Given the description of an element on the screen output the (x, y) to click on. 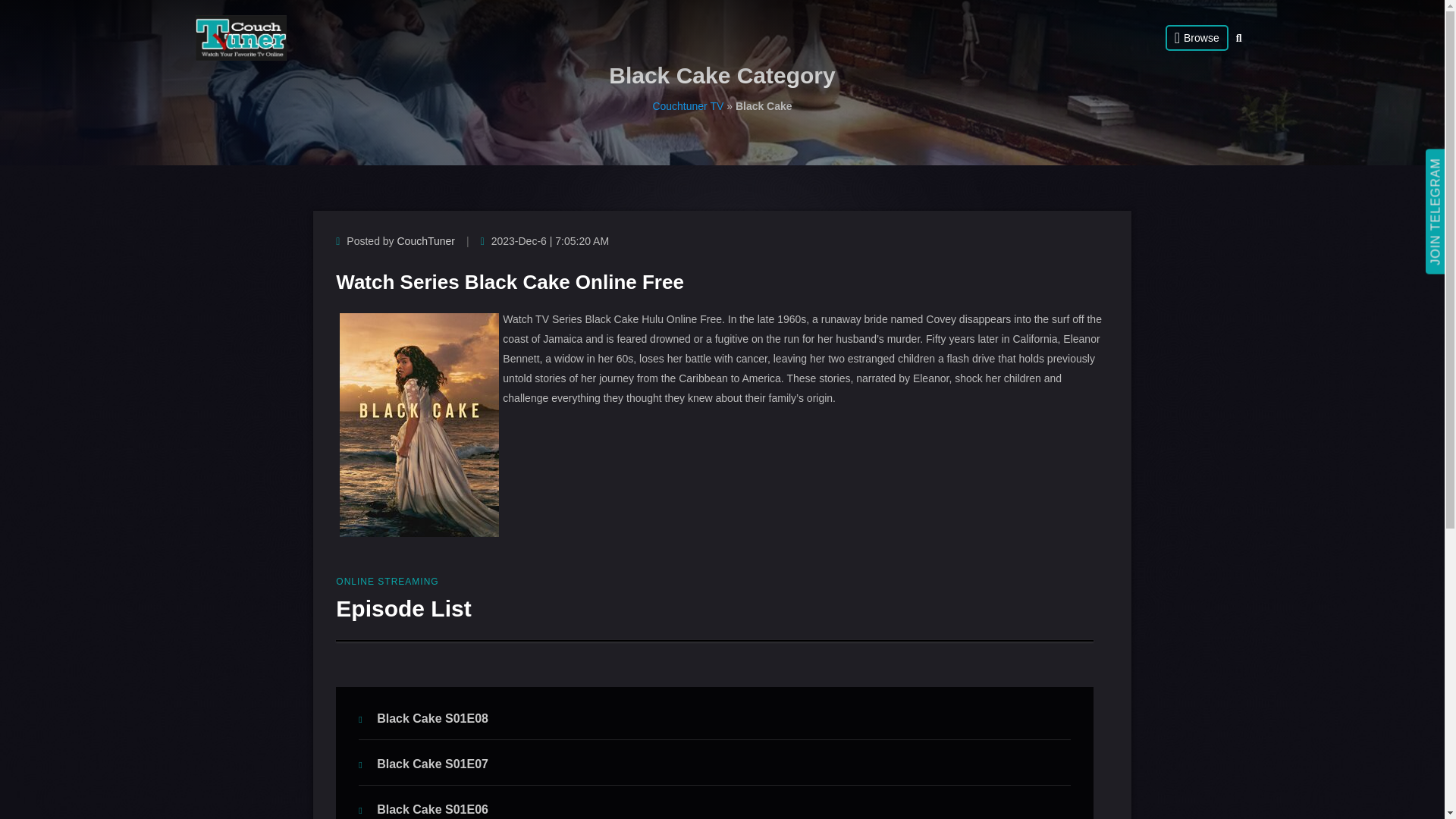
Black Cake S01E06 (422, 809)
Black Cake S01E07 (422, 763)
Couchtuner TV (687, 105)
Black Cake S01E08 (422, 717)
CouchTuner (426, 241)
